Given the description of an element on the screen output the (x, y) to click on. 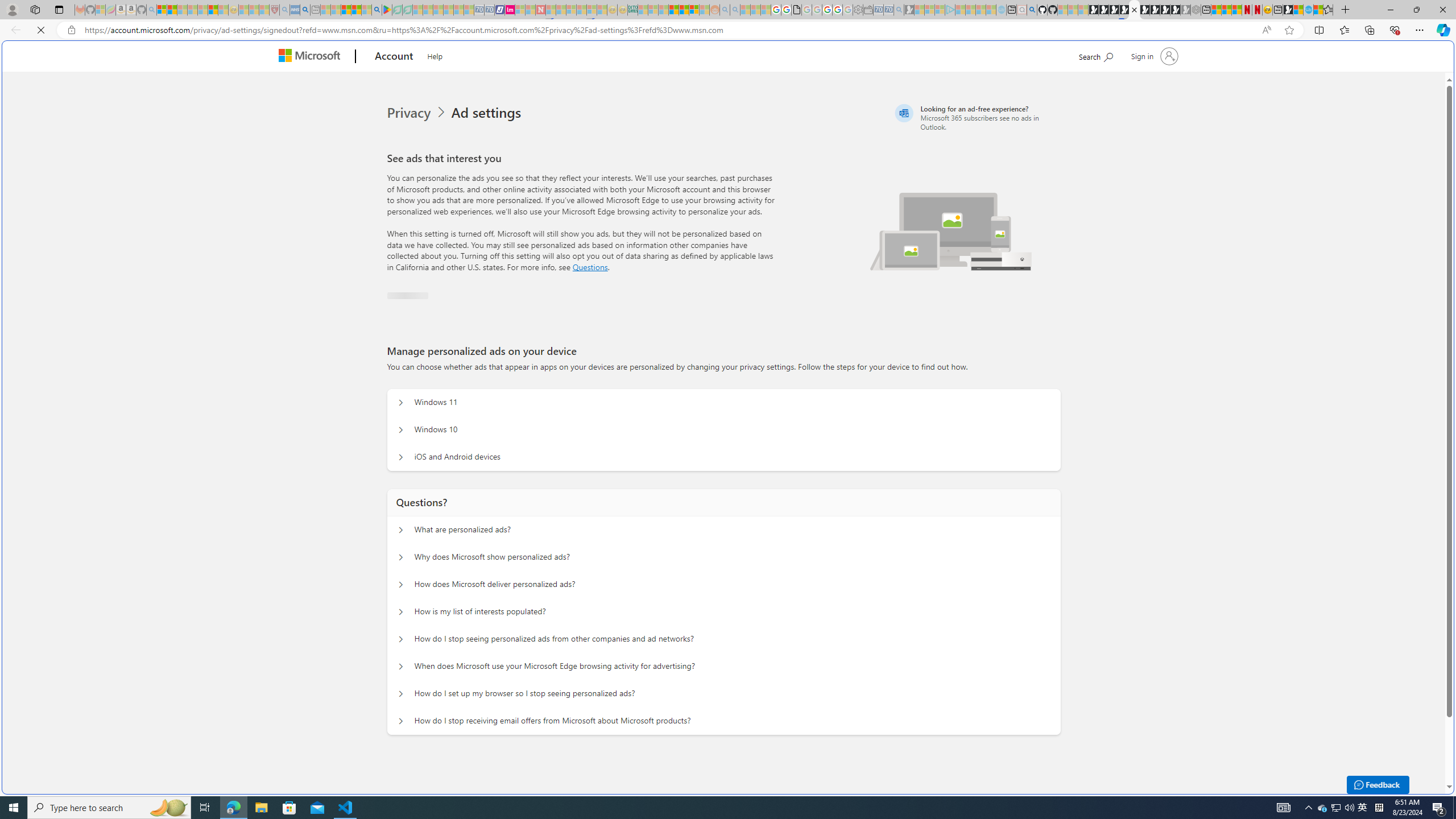
14 Common Myths Debunked By Scientific Facts - Sleeping (560, 9)
The Weather Channel - MSN - Sleeping (181, 9)
Help (435, 54)
Frequently visited (965, 151)
github - Search (1032, 9)
